Given the description of an element on the screen output the (x, y) to click on. 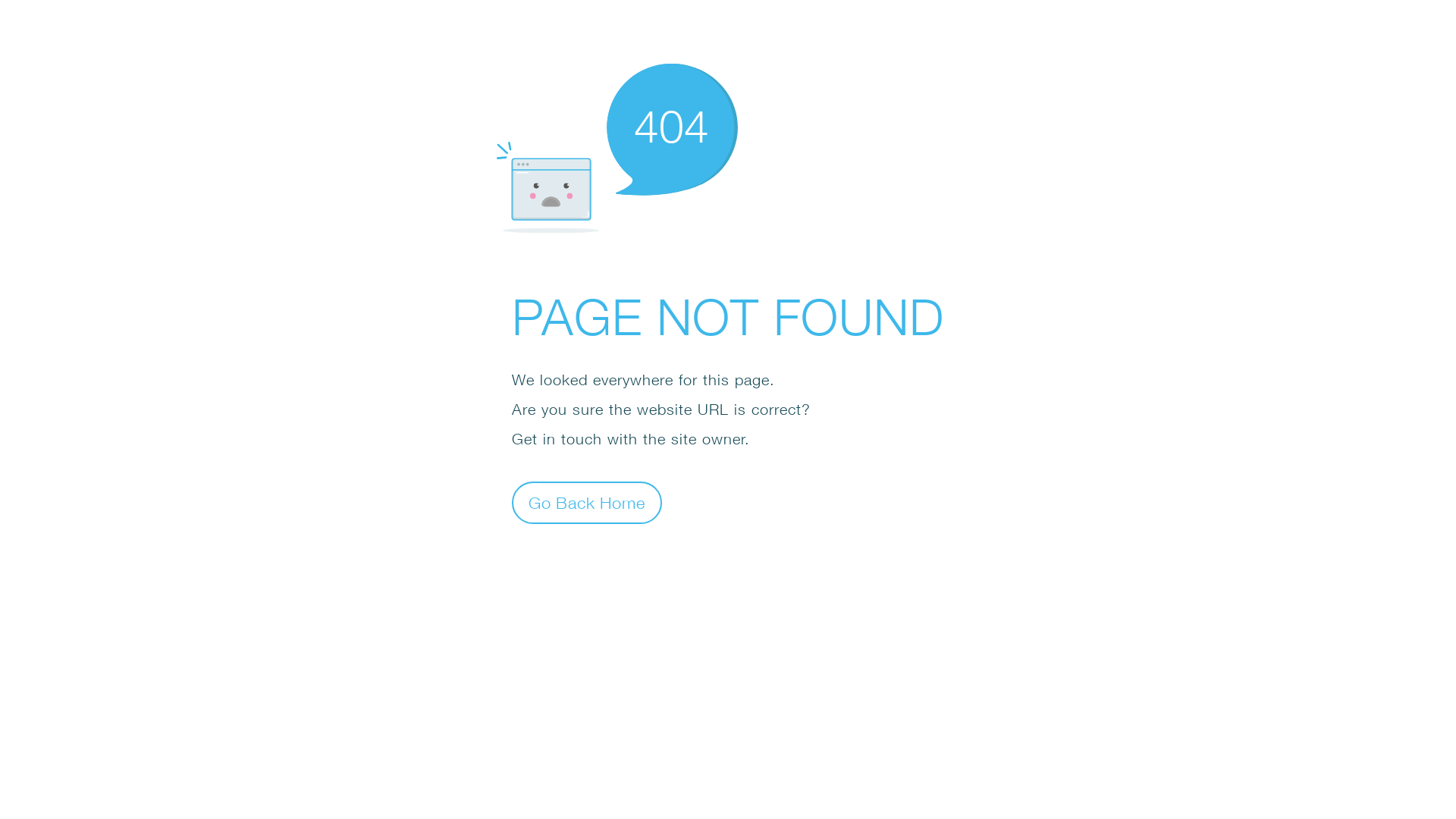
Go Back Home Element type: text (586, 502)
